Given the description of an element on the screen output the (x, y) to click on. 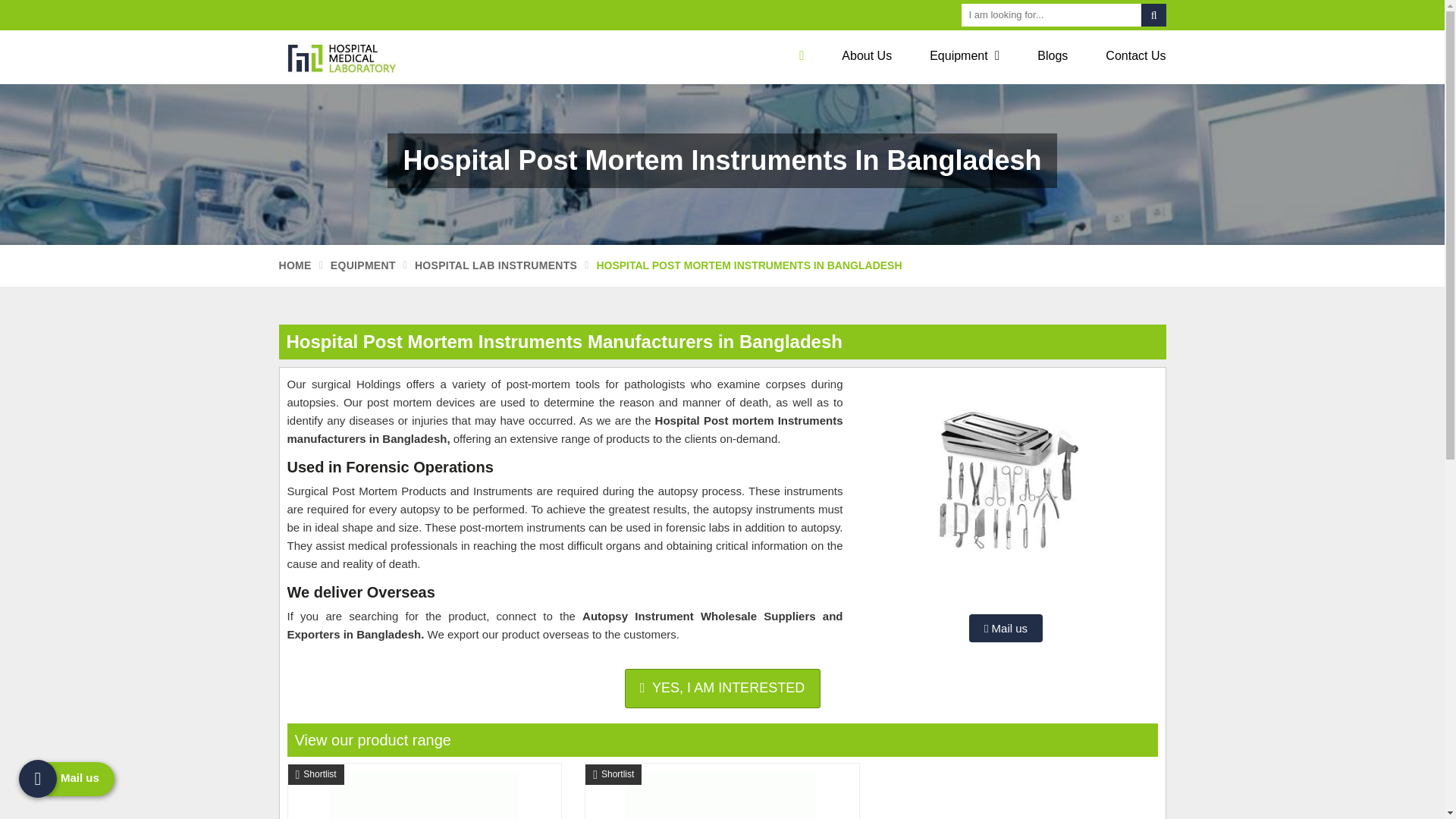
Hospital Medical Laboratory (349, 57)
Equipment (964, 56)
Equipment (964, 56)
About Us (866, 56)
Hospital Medical Laboratory (381, 57)
About Us (866, 56)
